Given the description of an element on the screen output the (x, y) to click on. 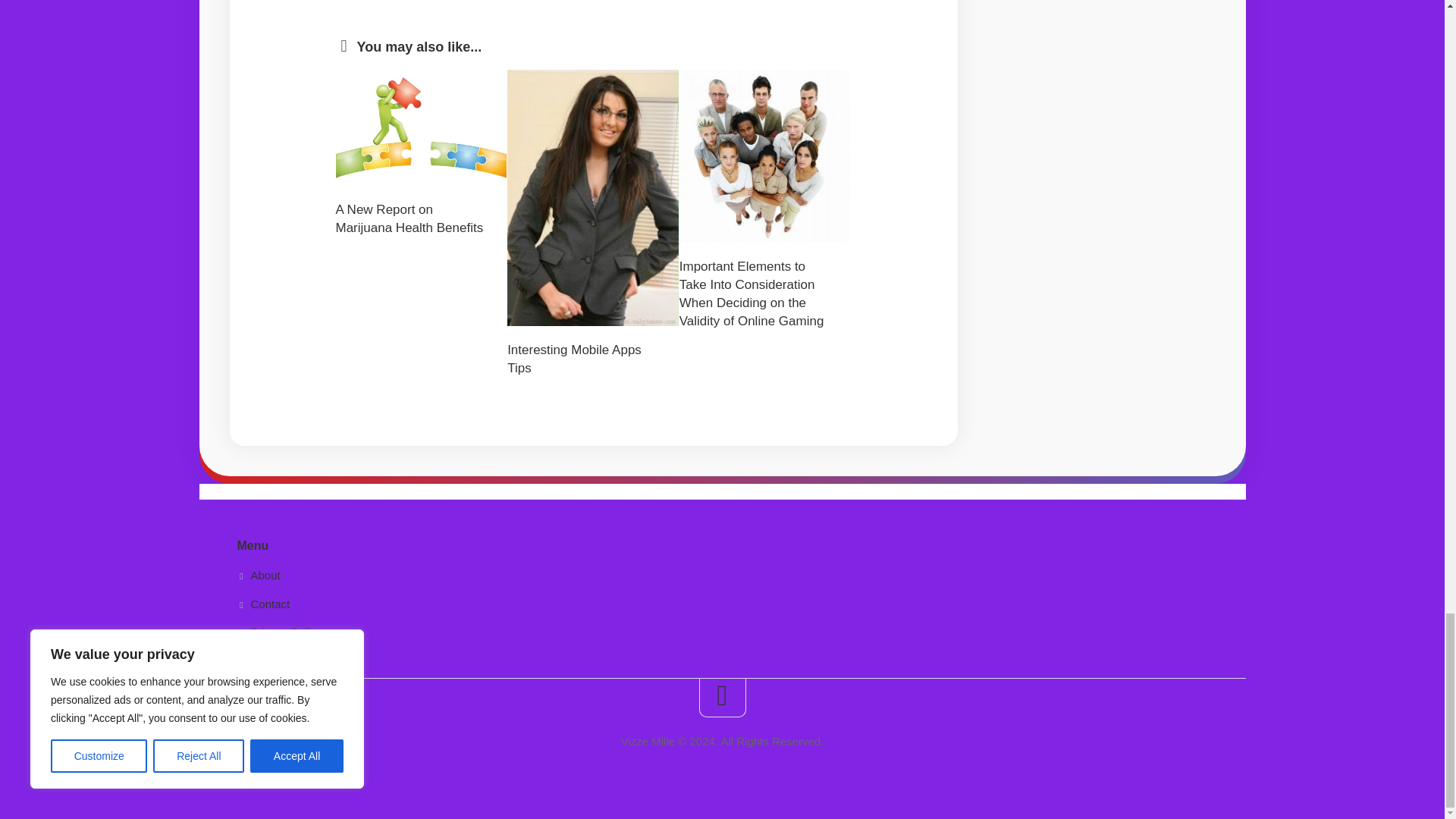
A New Report on Marijuana Health Benefits (408, 218)
Interesting Mobile Apps Tips (574, 359)
